Given the description of an element on the screen output the (x, y) to click on. 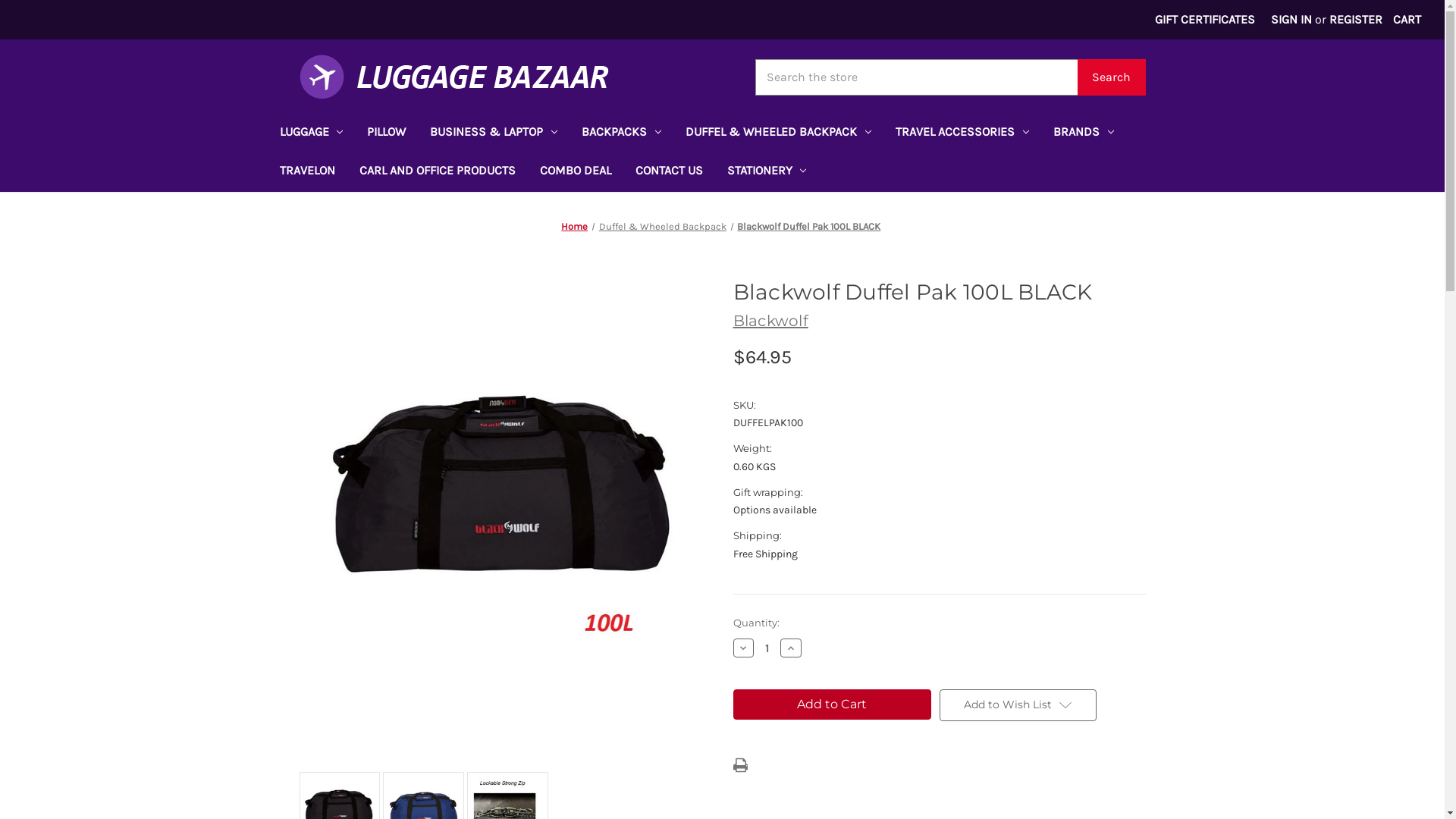
Print Element type: hover (739, 764)
Blackwolf Duffel Pak 100L BLACK Element type: text (808, 226)
Add to Cart Element type: text (831, 704)
BRANDS Element type: text (1083, 133)
GIFT CERTIFICATES Element type: text (1205, 19)
STATIONERY Element type: text (766, 172)
Duffel & Wheeled Backpack Element type: text (662, 226)
BUSINESS & LAPTOP Element type: text (493, 133)
Search Element type: text (1110, 77)
TRAVEL ACCESSORIES Element type: text (962, 133)
CONTACT US Element type: text (669, 172)
Increase Quantity of Blackwolf Duffel Pak 100L BLACK Element type: text (790, 647)
Blackwolf Element type: text (769, 320)
CARL AND OFFICE PRODUCTS Element type: text (437, 172)
CART Element type: text (1406, 19)
PILLOW Element type: text (385, 133)
BACKPACKS Element type: text (621, 133)
Home Element type: text (574, 226)
Add to Wish List Element type: text (1017, 705)
COMBO DEAL Element type: text (575, 172)
SIGN IN Element type: text (1291, 19)
REGISTER Element type: text (1355, 19)
DUFFEL & WHEELED BACKPACK Element type: text (778, 133)
Luggage Bazaar  Element type: hover (453, 76)
Decrease Quantity of Blackwolf Duffel Pak 100L BLACK Element type: text (742, 647)
TRAVELON Element type: text (306, 172)
Blackwolf Duffel Pak 100L BLACK Element type: hover (504, 509)
LUGGAGE Element type: text (310, 133)
